Given the description of an element on the screen output the (x, y) to click on. 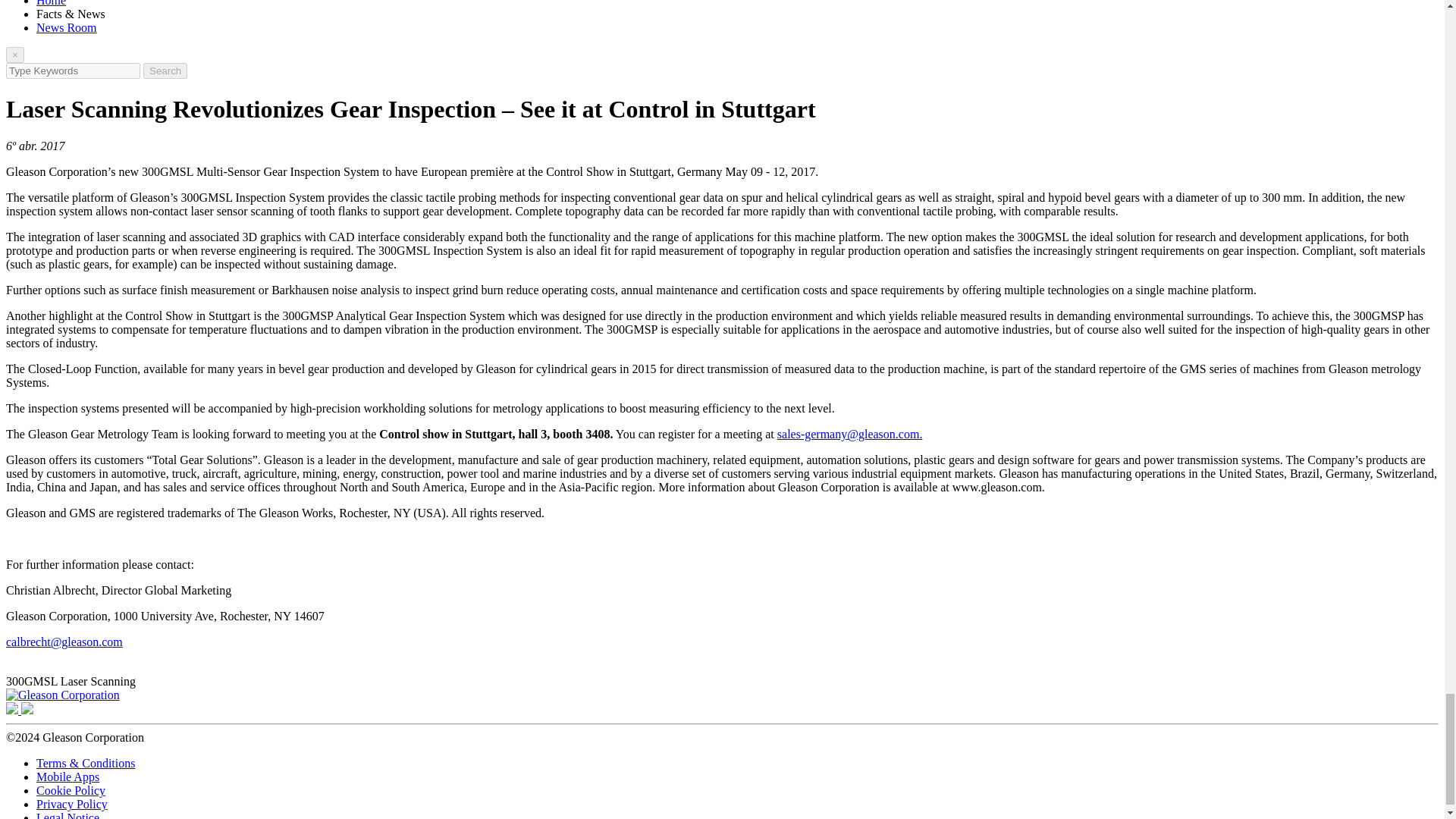
Line (27, 709)
Twitter (13, 709)
